Given the description of an element on the screen output the (x, y) to click on. 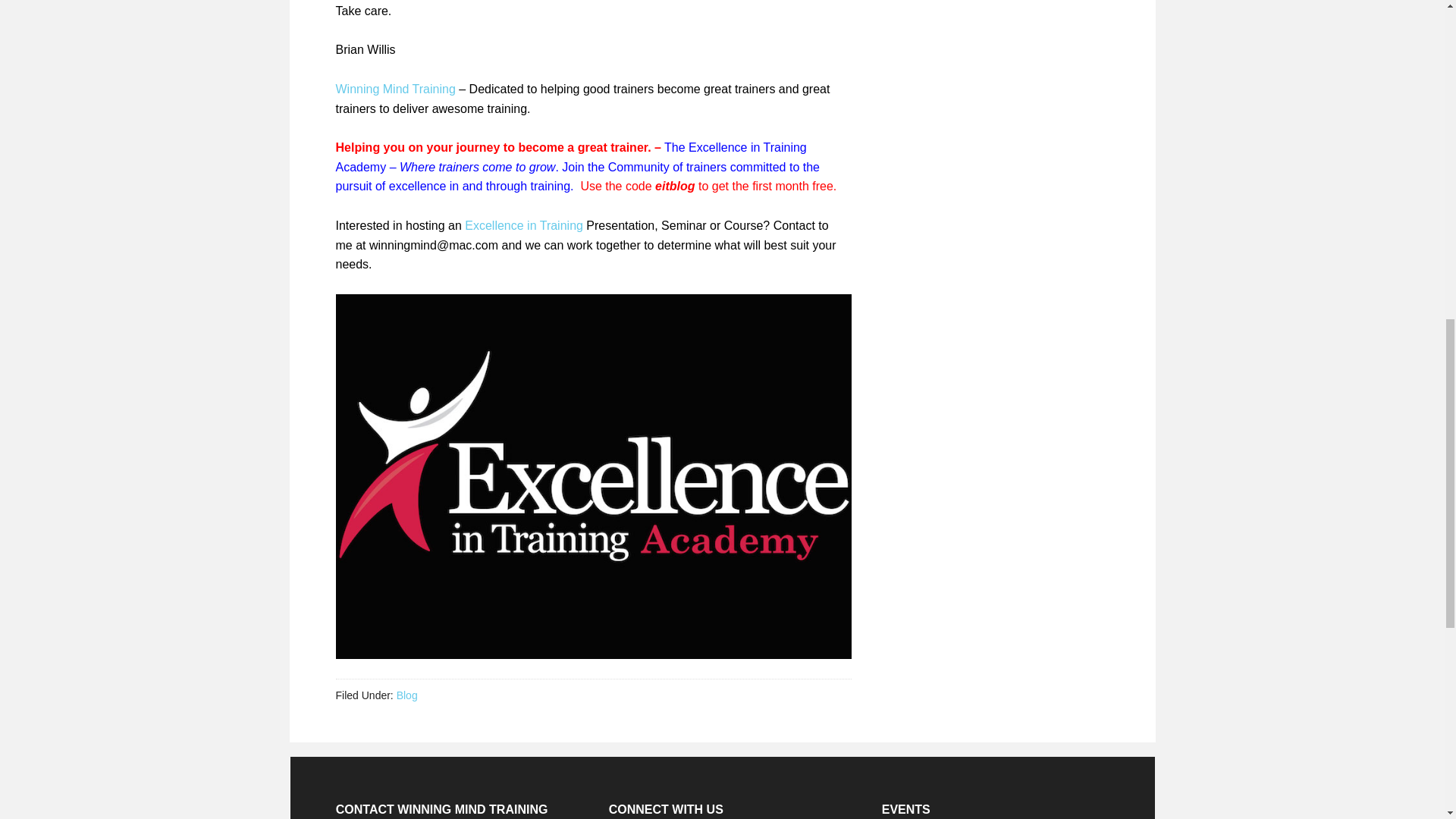
Winning Mind Training (394, 88)
Blog (406, 695)
The Excellence in Training Academy (570, 156)
Join the Community (615, 166)
Excellence in Training (523, 225)
